Given the description of an element on the screen output the (x, y) to click on. 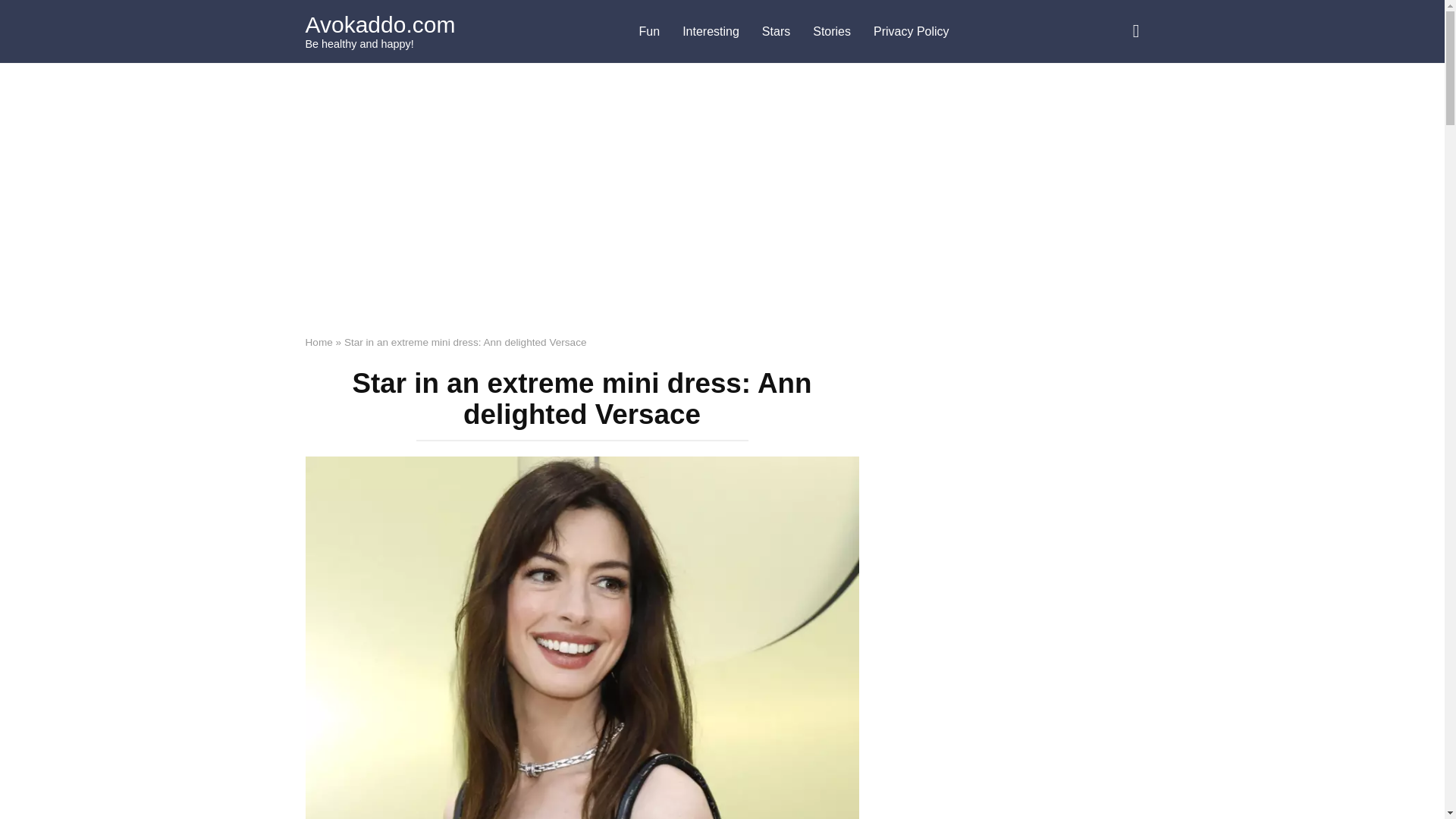
Stars (776, 31)
Stories (831, 31)
Interesting (711, 31)
Fun (649, 31)
Privacy Policy (910, 31)
Avokaddo.com (379, 24)
Home (317, 342)
